Given the description of an element on the screen output the (x, y) to click on. 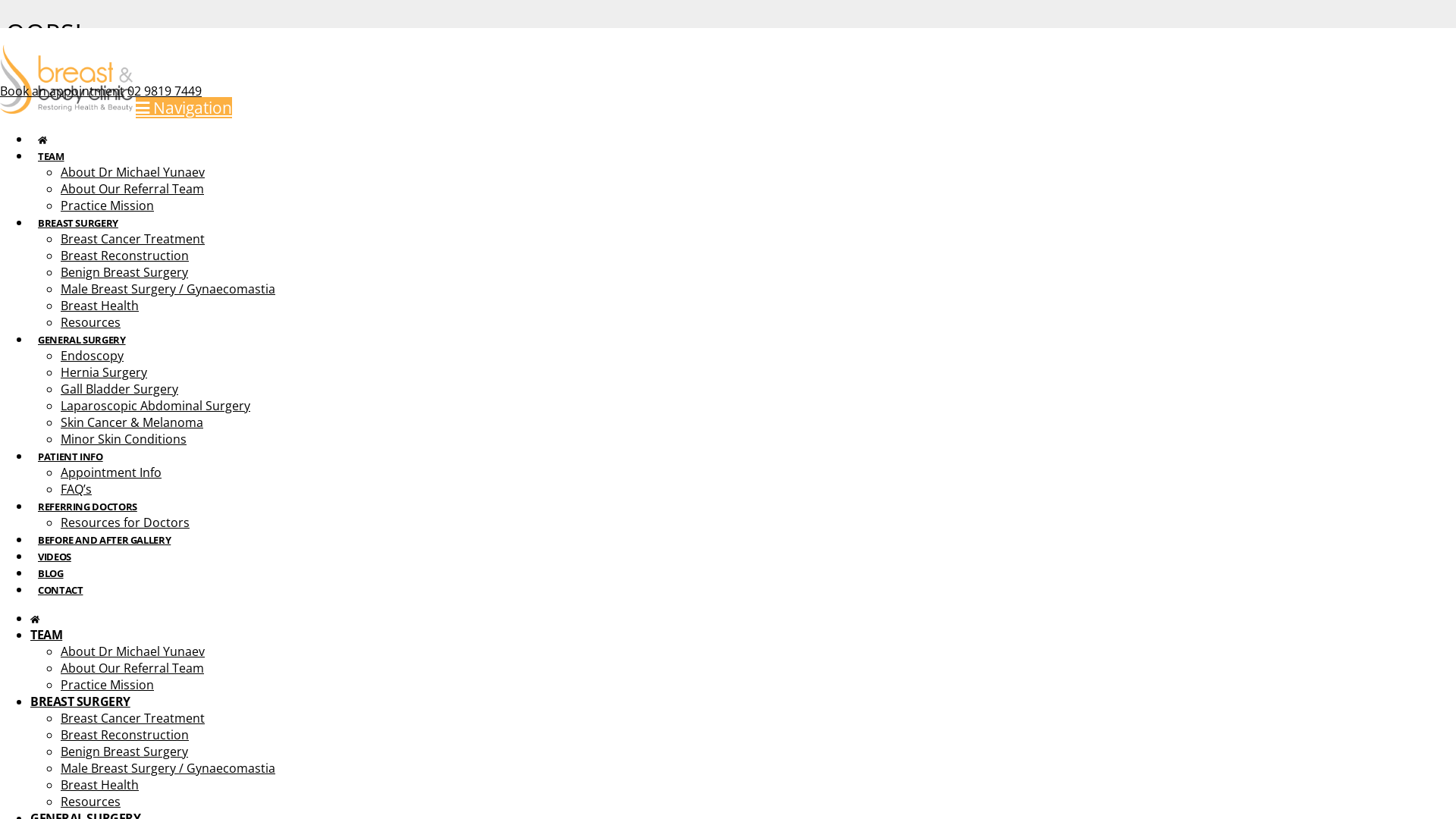
REFERRING DOCTORS Element type: text (87, 502)
BREAST SURGERY Element type: text (80, 701)
Interested in our Cosmetic Surgery services?
CLICK HERE Element type: text (133, 585)
Male Breast Surgery / Gynaecomastia Element type: text (167, 288)
Resources Element type: text (90, 321)
About Dr Michael Yunaev Element type: text (132, 171)
TEAM Element type: text (46, 634)
Benign Breast Surgery Element type: text (124, 271)
Breast Reconstruction Element type: text (124, 734)
Laparoscopic Abdominal Surgery Element type: text (155, 405)
TEAM Element type: text (51, 152)
Enquire Now Element type: text (450, 277)
(02) 9819 7449 Element type: text (46, 431)
About Dr Michael Yunaev Element type: text (132, 651)
CONTACT Element type: text (60, 585)
Minor Skin Conditions Element type: text (123, 438)
About Our Referral Team Element type: text (131, 667)
Navigation Element type: text (183, 107)
Practice Mission Element type: text (449, 261)
CLICK HERE Element type: text (282, 211)
About Our Referral Team Element type: text (131, 188)
Breast Health Element type: text (99, 784)
Resources Element type: text (90, 801)
Back to Top Element type: hover (9, 560)
Skin Cancer & Melanoma Element type: text (131, 422)
Gall Bladder Surgery Element type: text (119, 388)
Dr Michael Yunaev Element type: text (449, 227)
BLOG Element type: text (50, 569)
Male Breast Surgery / Gynaecomastia Element type: text (167, 767)
Endoscopy Element type: text (91, 355)
Book an appointment Element type: text (62, 90)
Benign Breast Surgery Element type: text (124, 751)
VIDEOS Element type: text (54, 552)
Breast Health Element type: text (99, 305)
Appointment Info Element type: text (110, 472)
Breast Reconstruction Element type: text (124, 255)
Practice Mission Element type: text (106, 205)
Instagram Element type: hover (15, 36)
02 9819 7449 Element type: text (164, 90)
Hernia Surgery Element type: text (103, 372)
Practice Mission Element type: text (106, 684)
GENERAL SURGERY Element type: text (81, 335)
Resources for Doctors Element type: text (124, 522)
Facebook Element type: hover (11, 294)
BEFORE AND AFTER GALLERY Element type: text (104, 535)
Facebook Element type: hover (5, 36)
info@bbclinic.com.au Element type: text (67, 447)
Breast Cancer Treatment Element type: text (132, 717)
Breast Cancer Treatment Element type: text (132, 238)
Instagram Element type: hover (21, 294)
PATIENT INFO Element type: text (70, 452)
BREAST SURGERY Element type: text (77, 218)
About The Team Element type: text (449, 244)
